Given the description of an element on the screen output the (x, y) to click on. 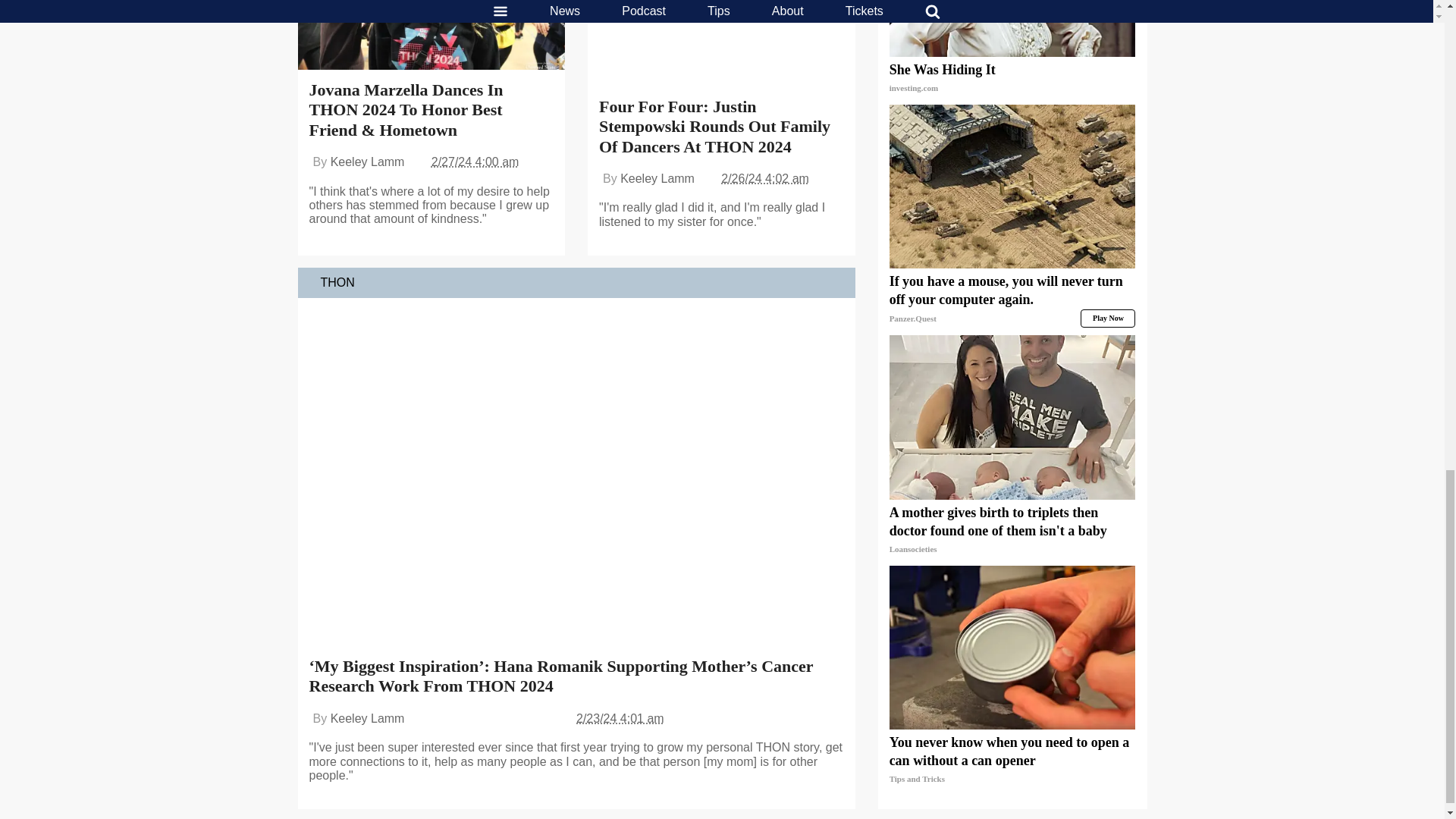
Monday, February 26, 2024 at 4:02am (764, 178)
Tuesday, February 27, 2024 at 4:00am (474, 161)
She Was Hiding It (1012, 78)
Friday, February 23, 2024 at 4:01am (619, 717)
